Given the description of an element on the screen output the (x, y) to click on. 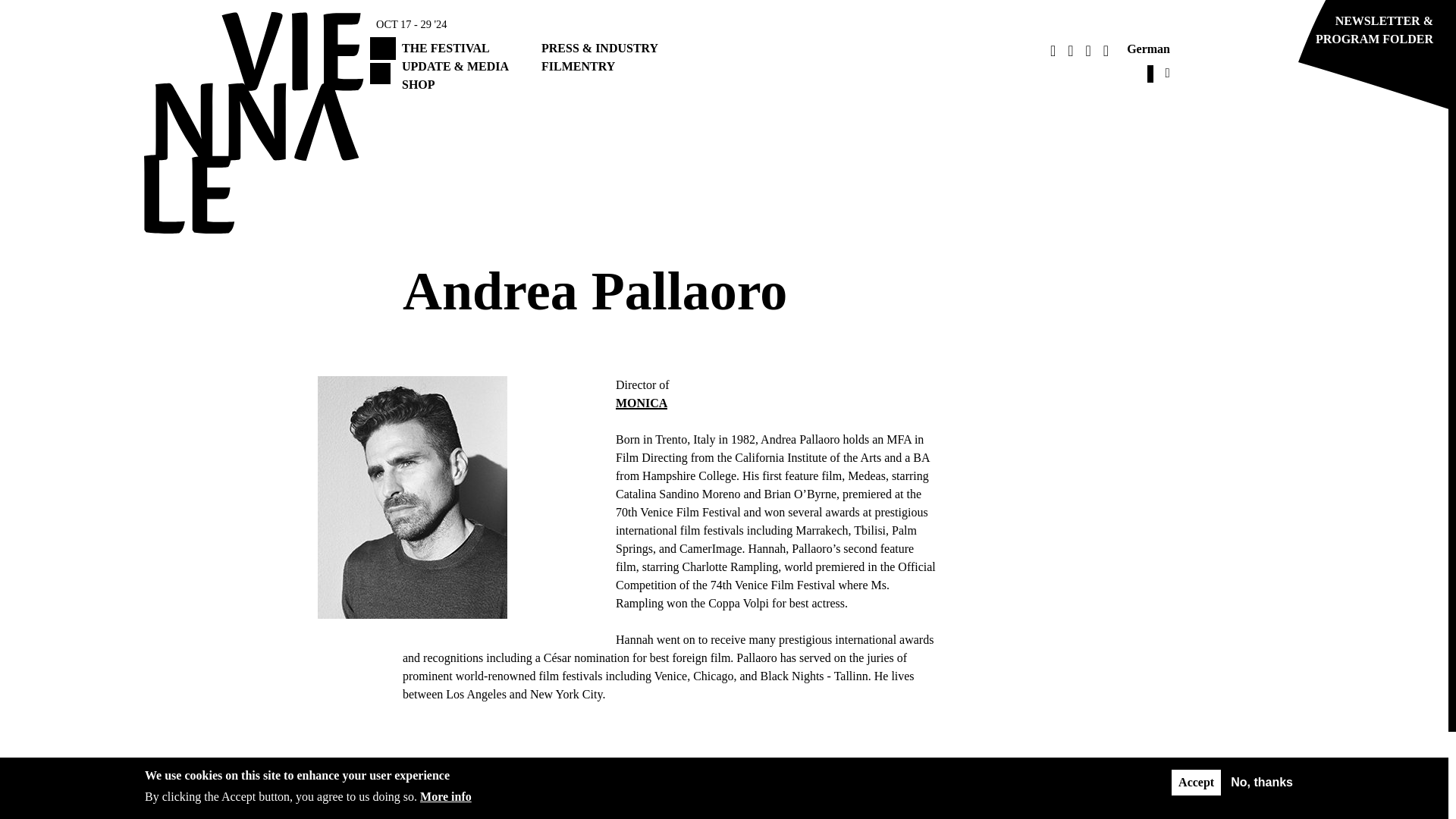
SHOP (418, 83)
Search (890, 86)
FILMENTRY (577, 65)
THE FESTIVAL (445, 47)
MONICA (640, 402)
German (1148, 48)
